Given the description of an element on the screen output the (x, y) to click on. 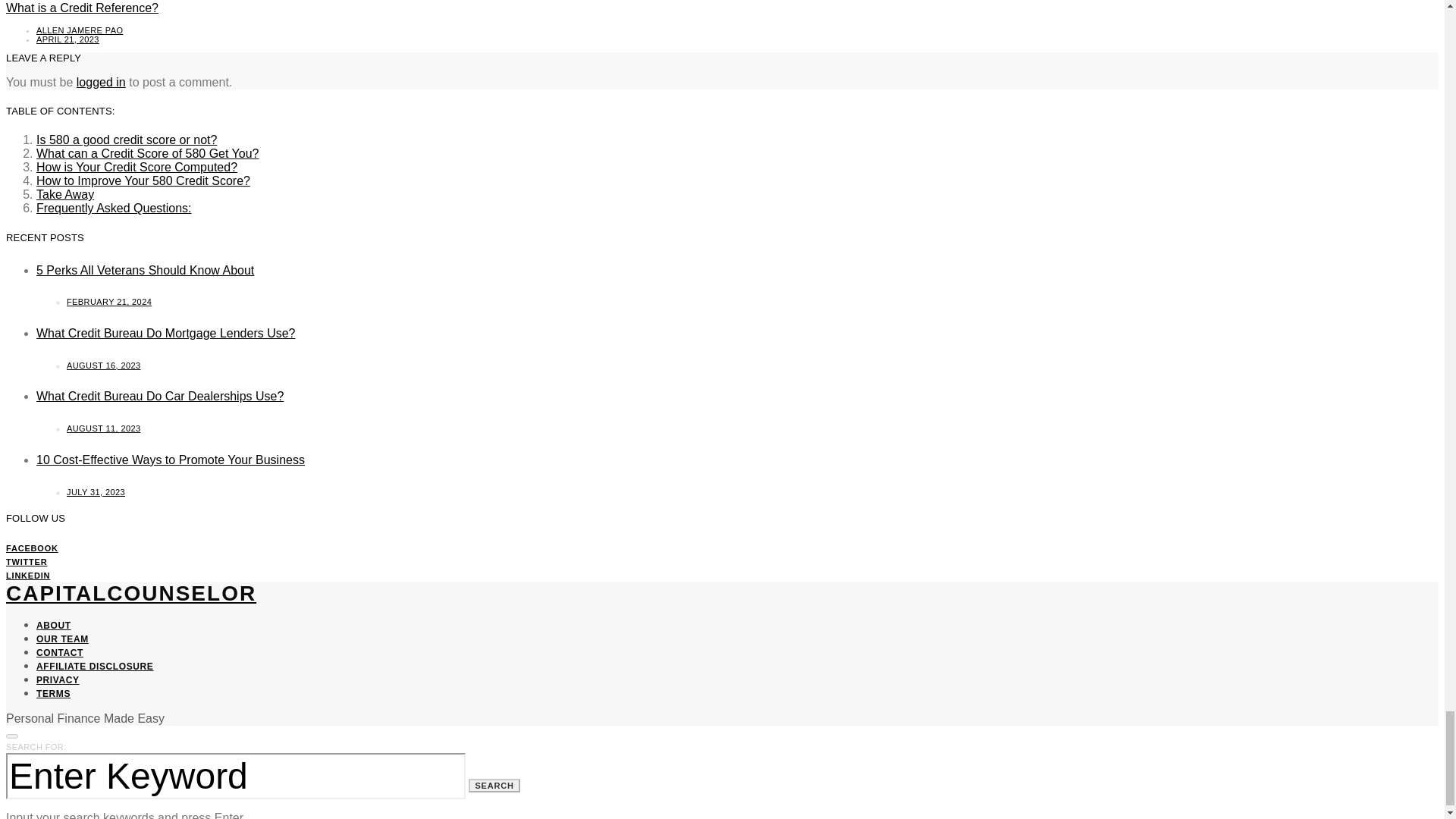
View all posts by Allen Jamere Pao (79, 30)
